Given the description of an element on the screen output the (x, y) to click on. 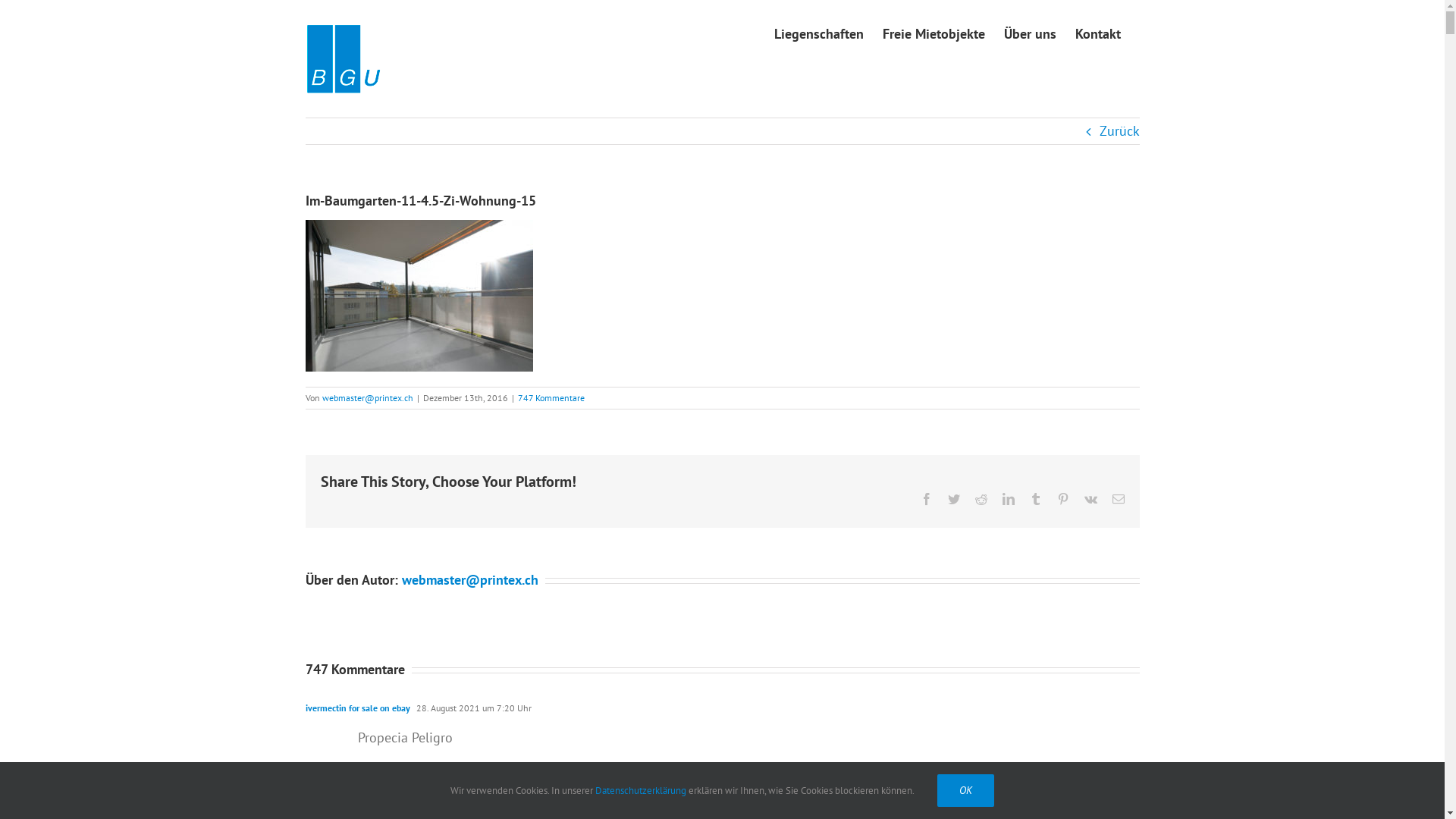
747 Kommentare Element type: text (550, 397)
Freie Mietobjekte Element type: text (933, 32)
Kontakt Element type: text (1097, 32)
OK Element type: text (965, 790)
E-Mail Element type: text (1117, 498)
Tumblr Element type: text (1035, 498)
webmaster@printex.ch Element type: text (366, 397)
Vk Element type: text (1090, 498)
Reddit Element type: text (981, 498)
LinkedIn Element type: text (1008, 498)
Pinterest Element type: text (1063, 498)
Liegenschaften Element type: text (817, 32)
webmaster@printex.ch Element type: text (469, 579)
ivermectin for sale on ebay Element type: text (356, 707)
Facebook Element type: text (926, 498)
Twitter Element type: text (953, 498)
